Given the description of an element on the screen output the (x, y) to click on. 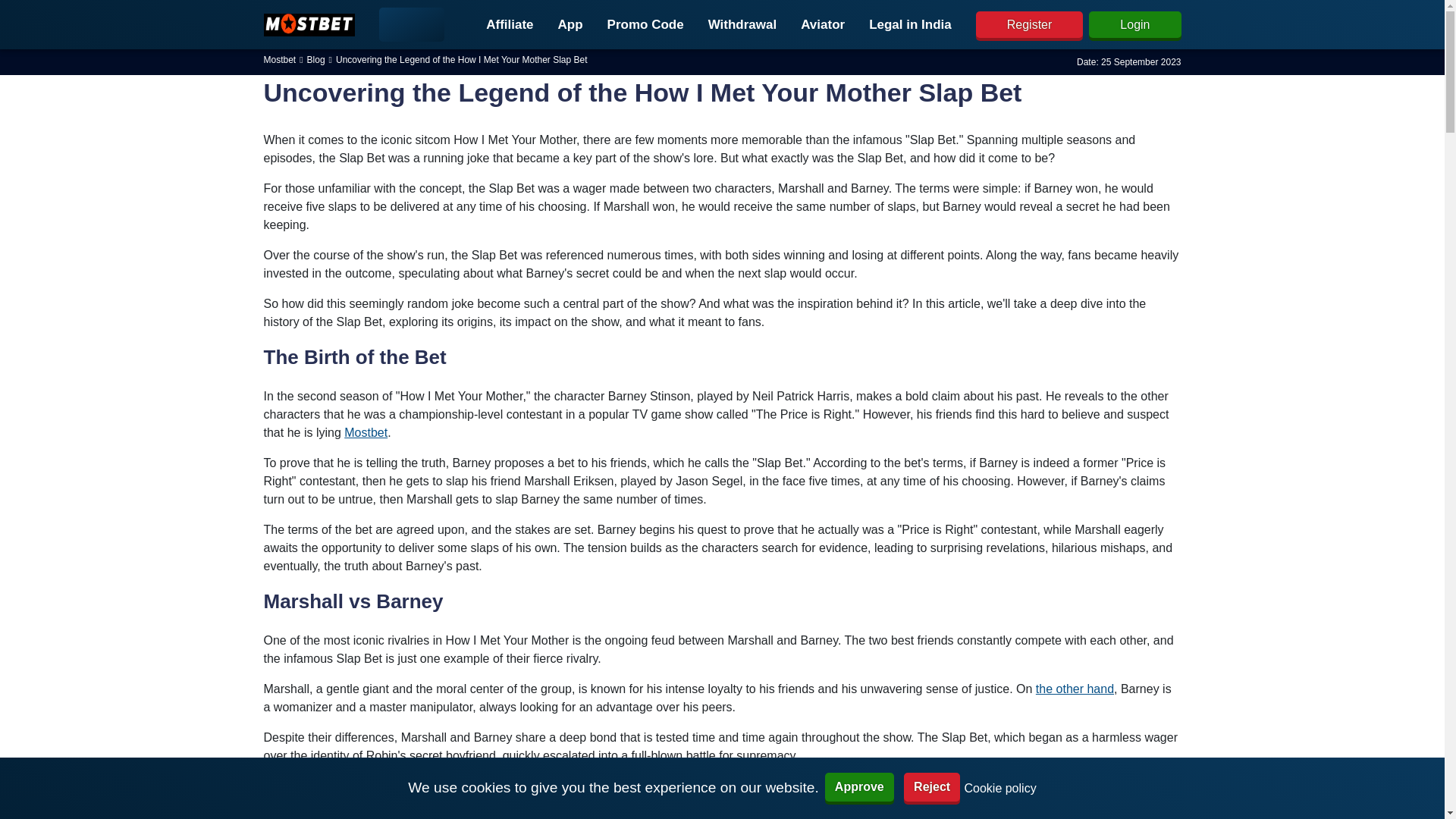
Login (1134, 24)
App (570, 24)
Mostbet (365, 431)
Mostbet (280, 58)
Register (1029, 24)
the other hand (1074, 688)
Promo Code (645, 24)
Withdrawal (742, 24)
Affiliate (509, 24)
Blog (315, 58)
Legal in India (910, 24)
Aviator (823, 24)
